Given the description of an element on the screen output the (x, y) to click on. 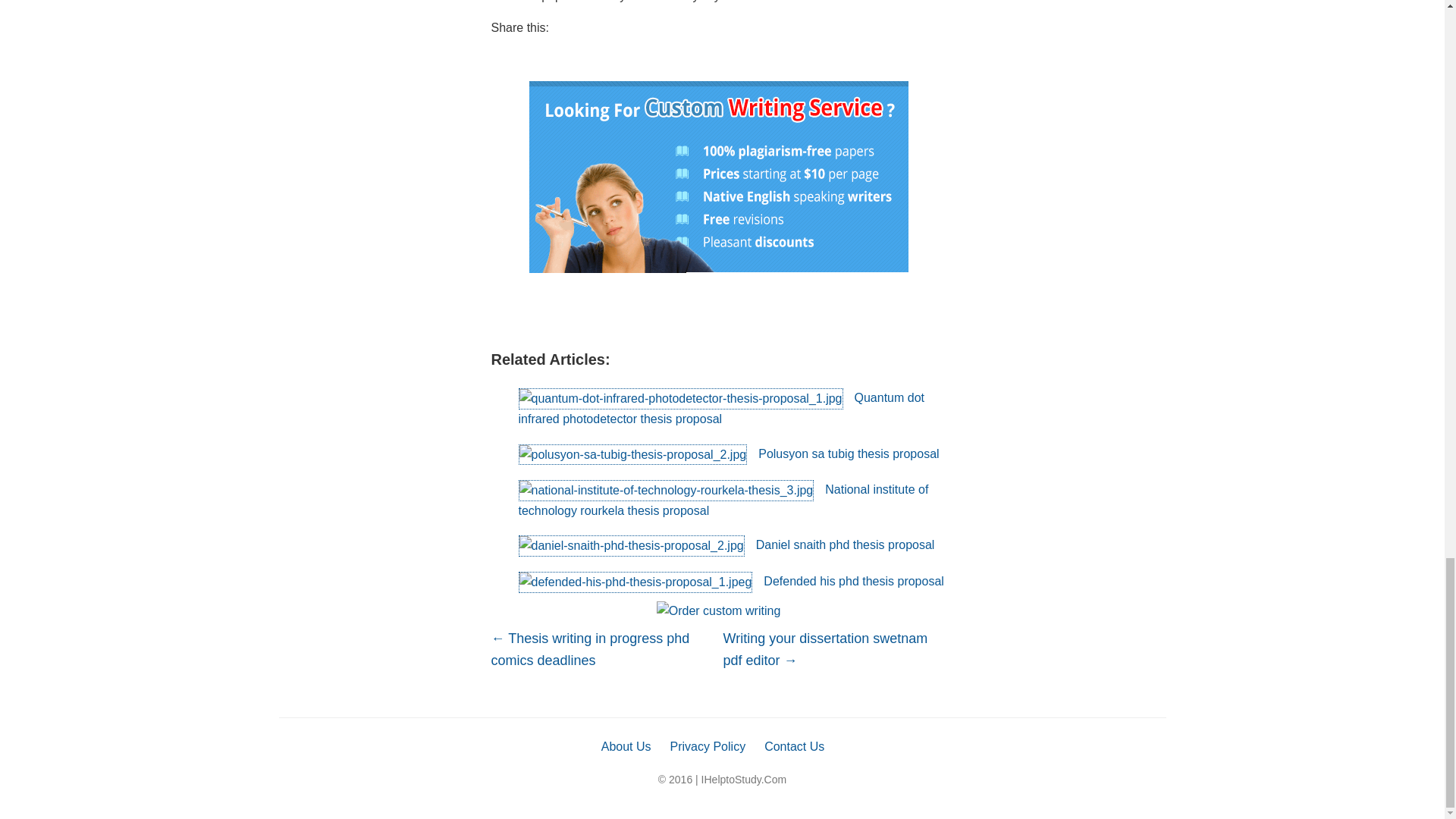
Polusyon sa tubig thesis proposal (728, 453)
National institute of technology rourkela thesis proposal (723, 499)
Daniel snaith phd thesis proposal (726, 544)
Defended his phd thesis proposal (730, 581)
Quantum dot infrared photodetector thesis proposal (721, 408)
